Given the description of an element on the screen output the (x, y) to click on. 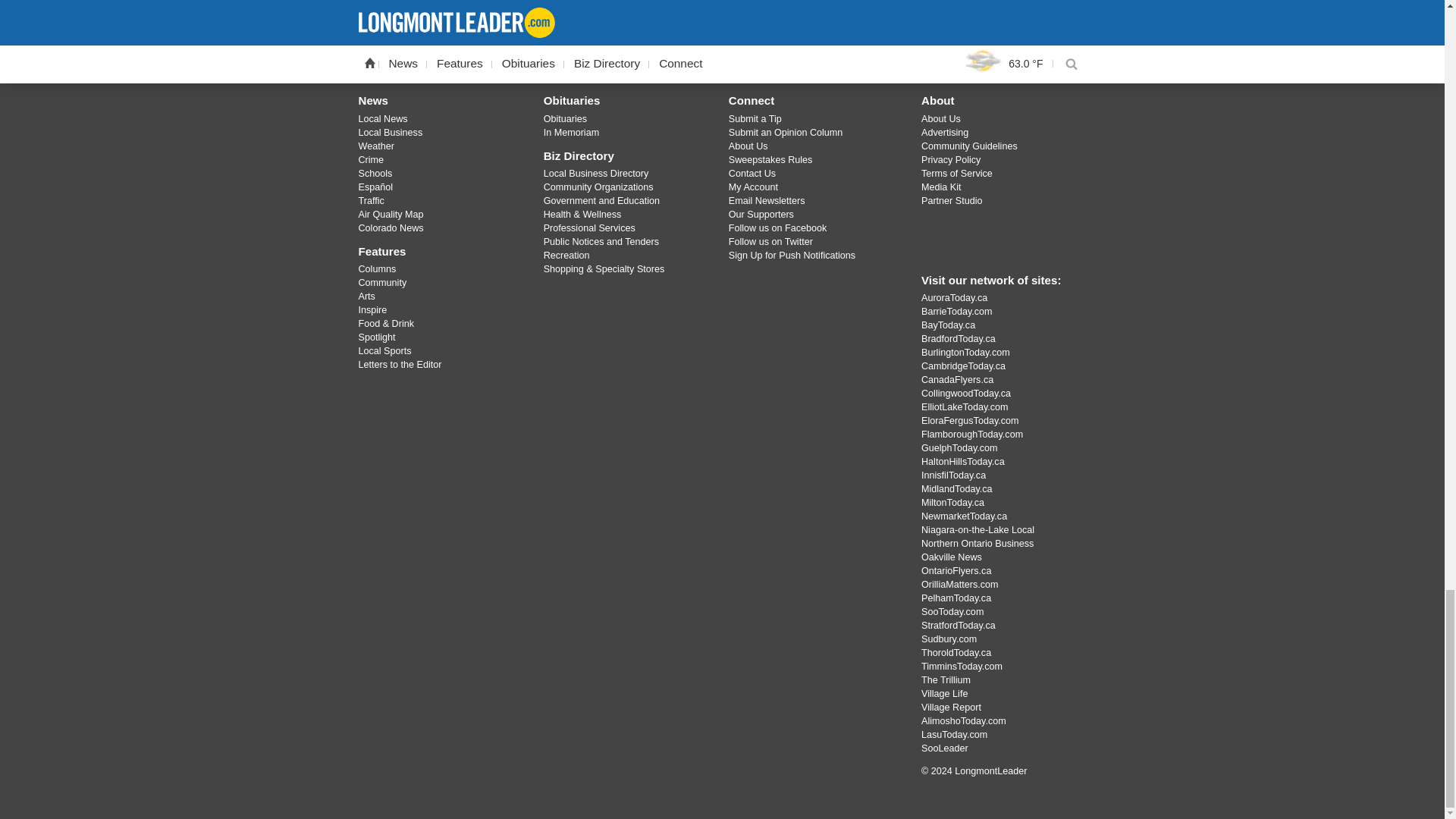
LinkedIn (780, 46)
Facebook (663, 46)
Instagram (741, 46)
X (702, 46)
